Given the description of an element on the screen output the (x, y) to click on. 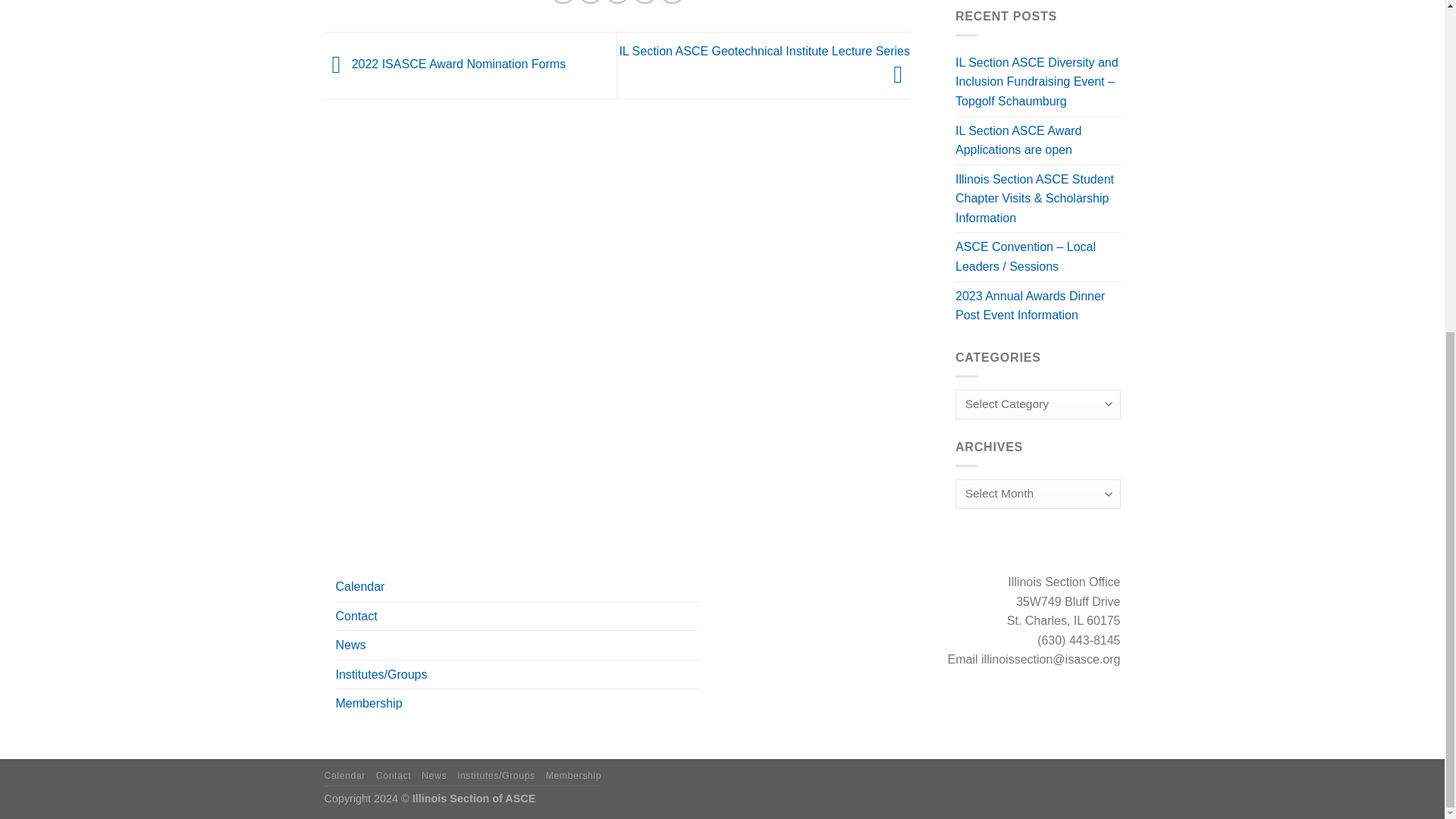
Share on LinkedIn (671, 2)
Share on Facebook (562, 2)
Share on Twitter (590, 2)
Email to a Friend (617, 2)
Pin on Pinterest (644, 2)
